Given the description of an element on the screen output the (x, y) to click on. 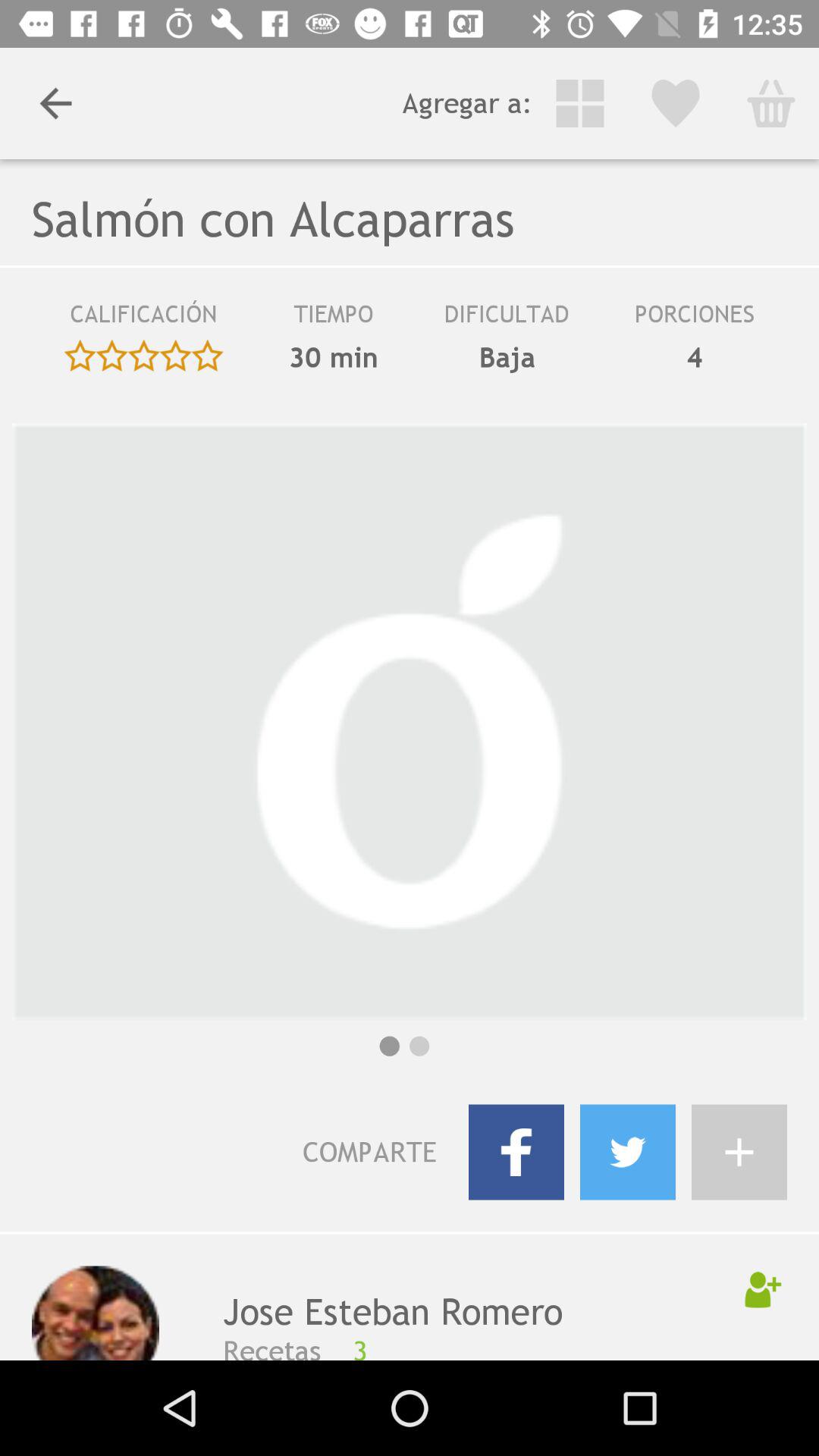
launch the item next to the 30 min icon (506, 357)
